Given the description of an element on the screen output the (x, y) to click on. 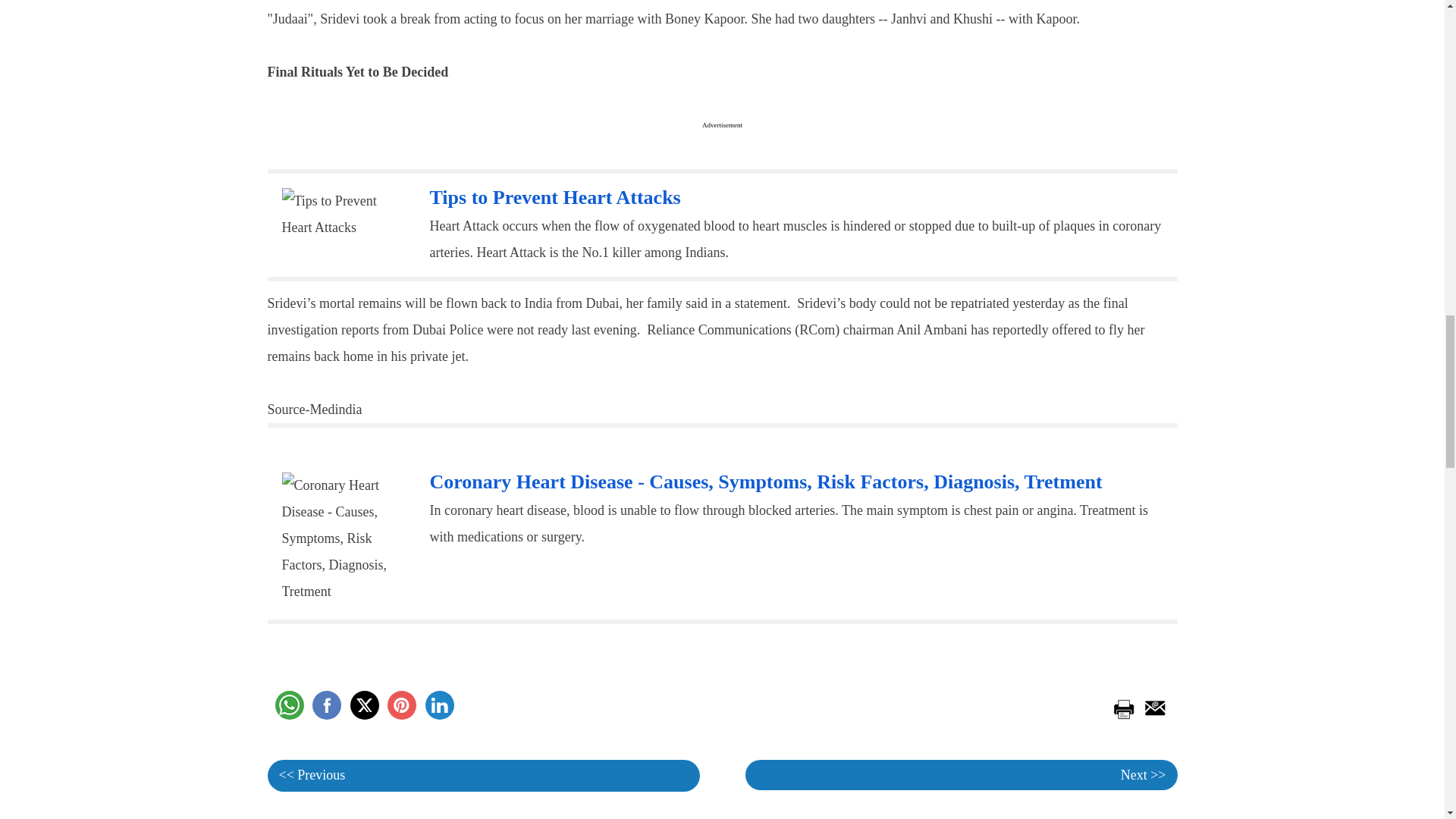
Pinterest (401, 705)
Twitter (364, 705)
Tips to Prevent Heart Attacks (554, 197)
Linkedin (438, 705)
Tips to Prevent Heart Attacks (344, 214)
Facebook (326, 705)
Whatsapp (288, 705)
